Given the description of an element on the screen output the (x, y) to click on. 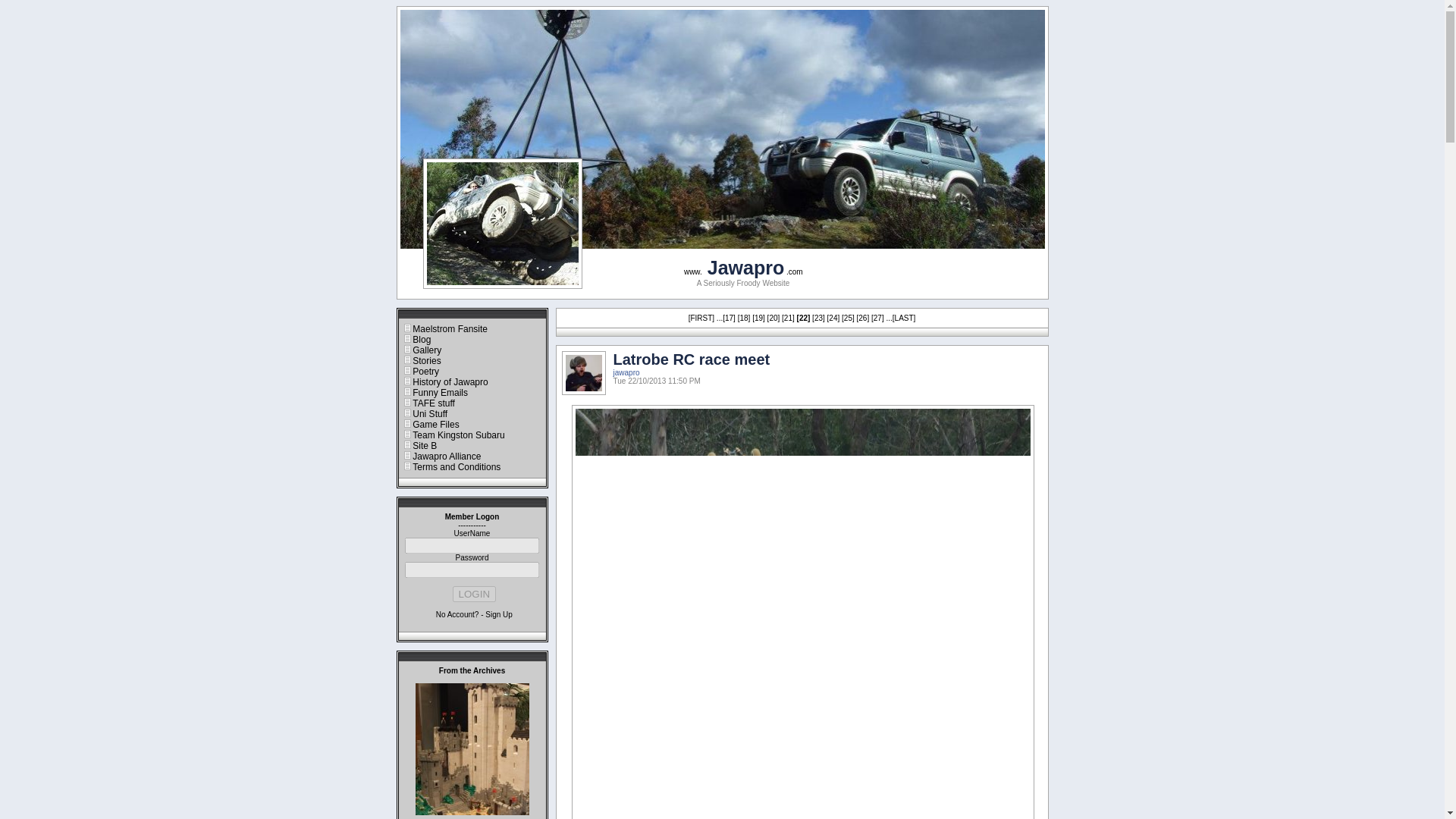
LOGIN (474, 593)
LOGIN (474, 593)
Terms and Conditions (456, 466)
Game Files (435, 424)
Funny Emails (439, 392)
No Account? - Sign Up (473, 614)
TAFE stuff (433, 403)
Maelstrom Fansite (449, 328)
Gallery (426, 349)
Team Kingston Subaru (457, 434)
